Given the description of an element on the screen output the (x, y) to click on. 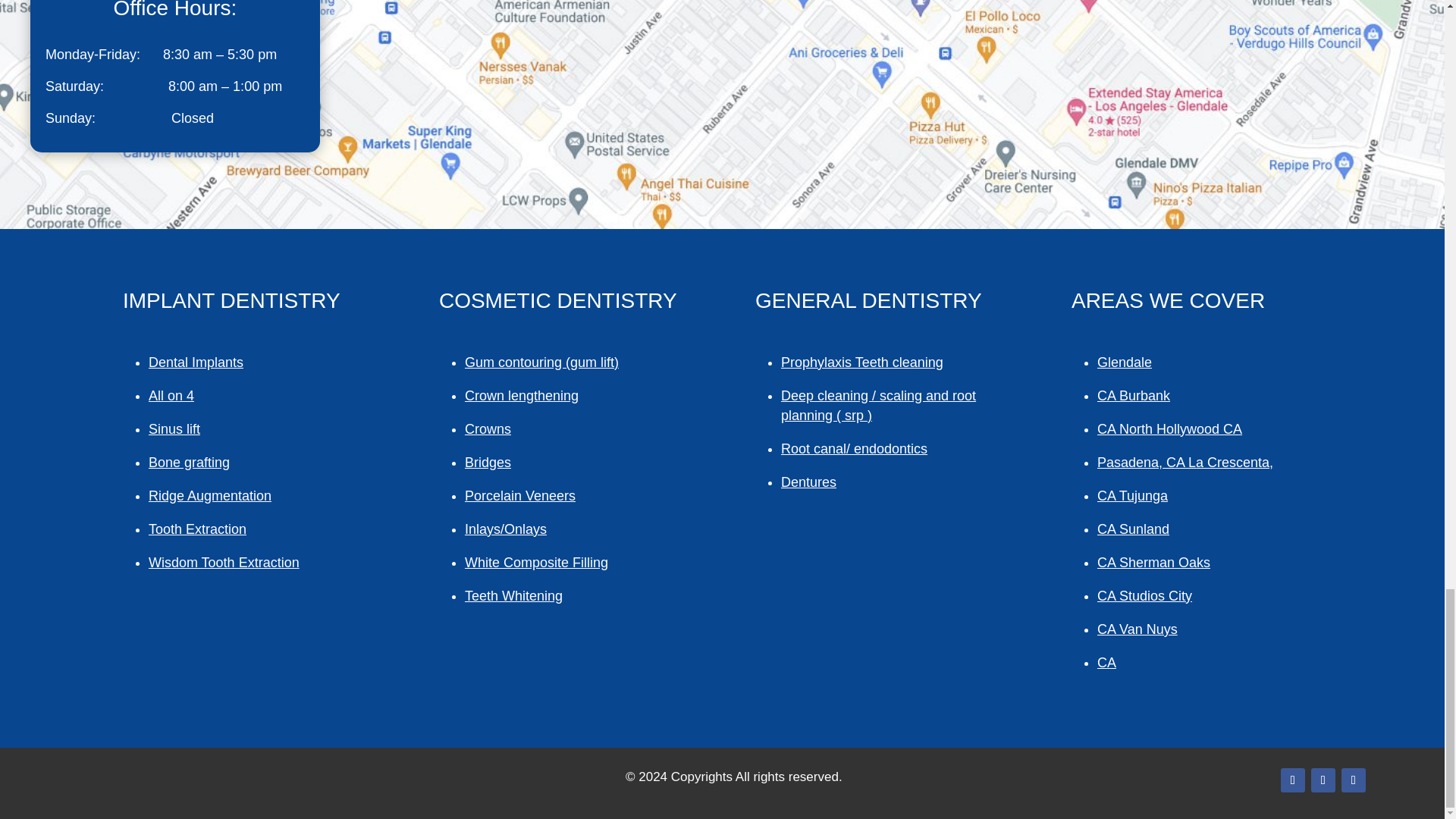
Follow on Yelp (1352, 780)
Follow on Facebook (1292, 780)
Follow on Instagram (1323, 780)
